Given the description of an element on the screen output the (x, y) to click on. 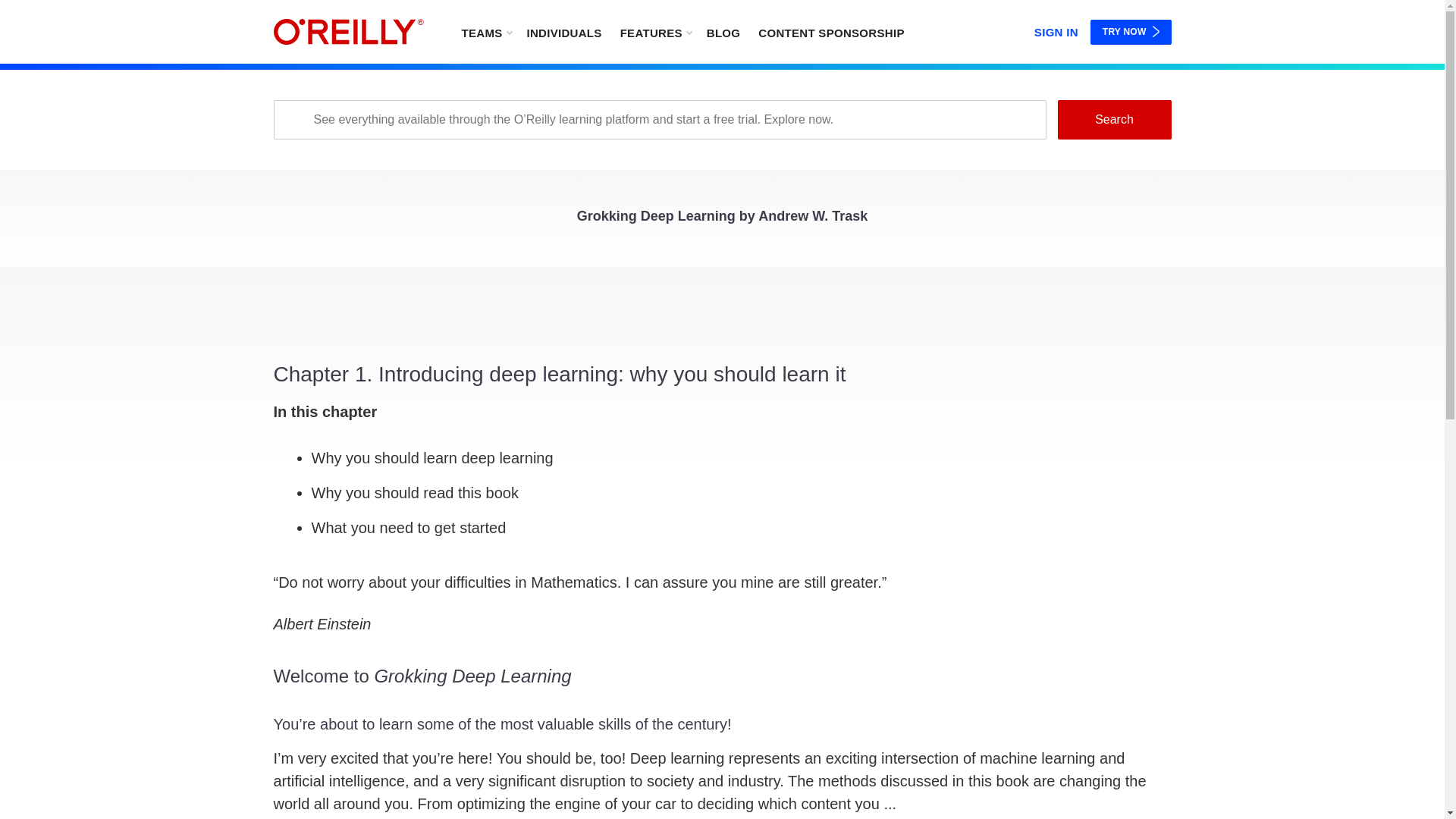
SIGN IN (1055, 29)
INDIVIDUALS (563, 31)
Search (1113, 119)
home page (348, 31)
Search (1113, 119)
CONTENT SPONSORSHIP (831, 31)
FEATURES (655, 31)
Grokking Deep Learning by Andrew W. Trask (721, 219)
BLOG (723, 31)
Search (1113, 119)
TEAMS (486, 31)
TRY NOW (1131, 32)
